Given the description of an element on the screen output the (x, y) to click on. 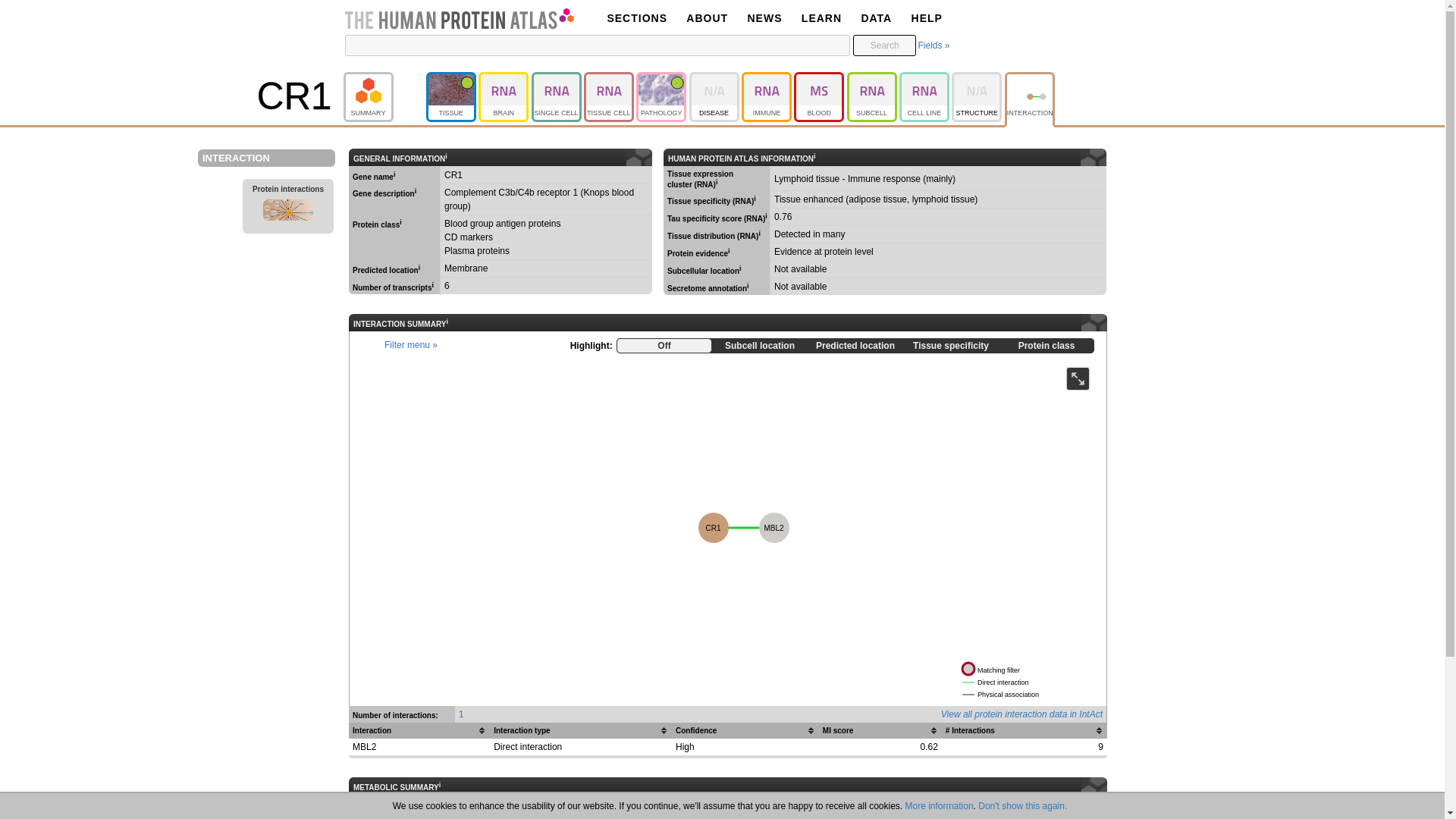
LEARN (821, 18)
HELP (926, 18)
Don't show this again. (1022, 805)
NEWS (763, 18)
ABOUT (1027, 629)
More information (636, 18)
DATA (706, 18)
